Given the description of an element on the screen output the (x, y) to click on. 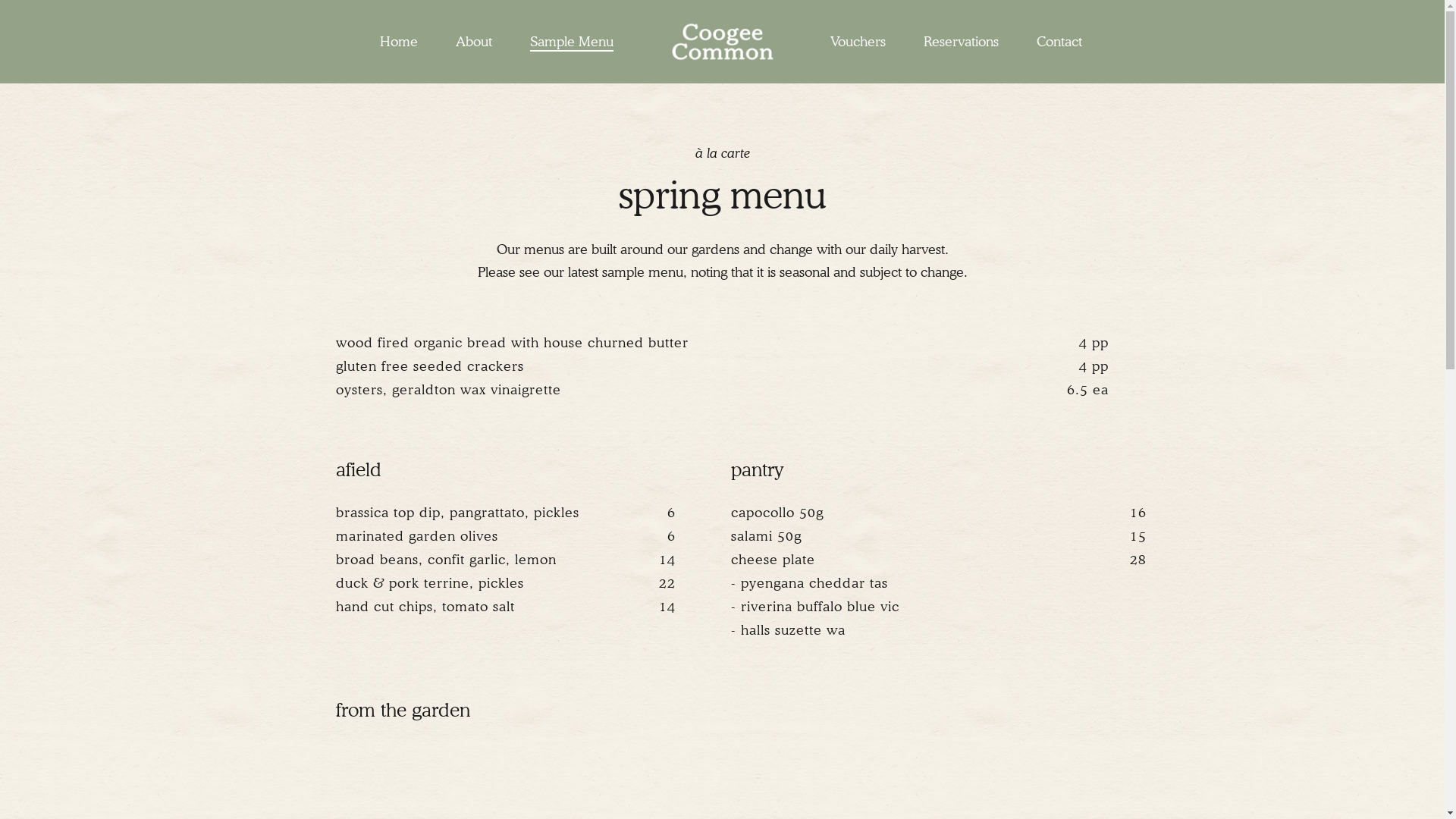
Home Element type: text (398, 41)
Contact Element type: text (1059, 41)
Sample Menu Element type: text (571, 41)
About Element type: text (473, 41)
Reservations Element type: text (960, 41)
Vouchers Element type: text (857, 41)
